Given the description of an element on the screen output the (x, y) to click on. 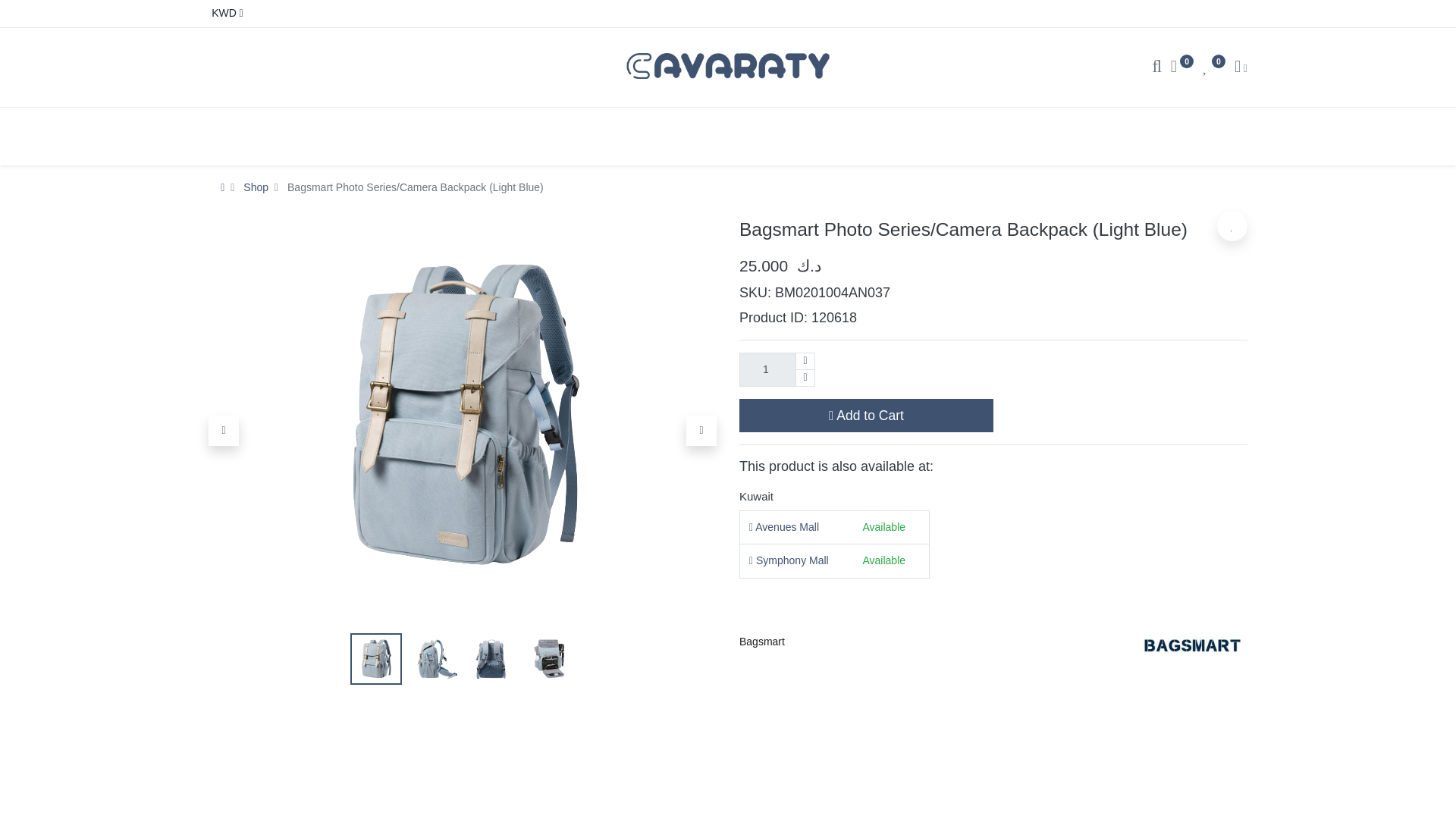
0 (1213, 68)
0 (1181, 68)
1 (777, 369)
KWD (225, 13)
CAVARATY (727, 64)
